Given the description of an element on the screen output the (x, y) to click on. 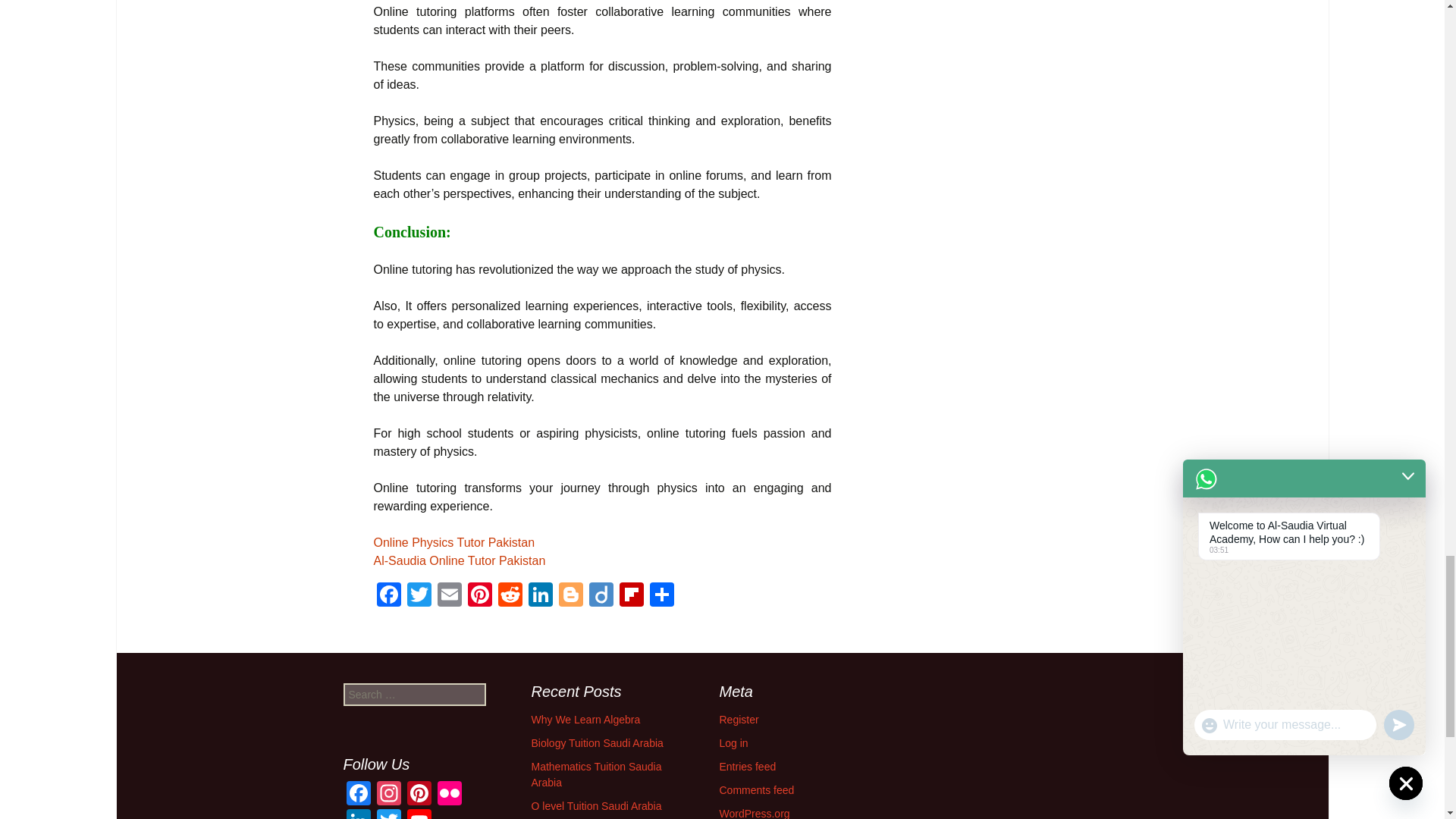
LinkedIn (357, 814)
Flipboard (630, 596)
Diigo (600, 596)
Email (448, 596)
Pinterest (479, 596)
Reddit (509, 596)
Facebook (387, 596)
Online Physics Tutor Pakistan (453, 542)
Twitter (418, 596)
Flickr (448, 795)
Instagram (387, 795)
Twitter (418, 596)
Al-Saudia Online Tutor Pakistan (458, 560)
Facebook (357, 795)
Facebook (387, 596)
